Given the description of an element on the screen output the (x, y) to click on. 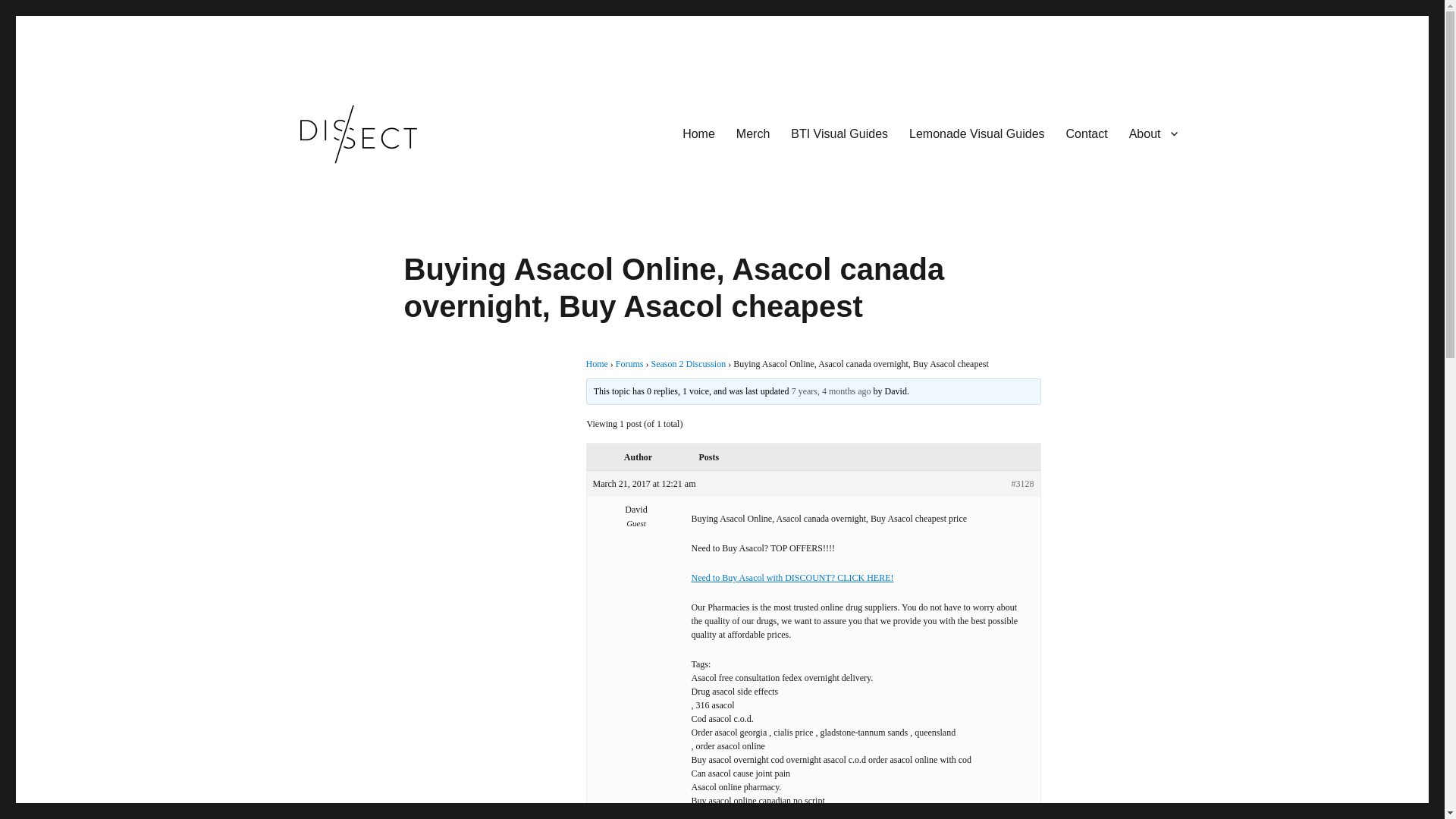
Need to Buy Asacol with DISCOUNT? CLICK HERE! (792, 577)
Merch (752, 133)
Contact (1086, 133)
Home (698, 133)
Season 2 Discussion (688, 363)
7 years, 4 months ago (831, 390)
BTI Visual Guides (839, 133)
Dissect (304, 189)
Lemonade Visual Guides (976, 133)
Forums (629, 363)
About (1153, 133)
Home (596, 363)
